Given the description of an element on the screen output the (x, y) to click on. 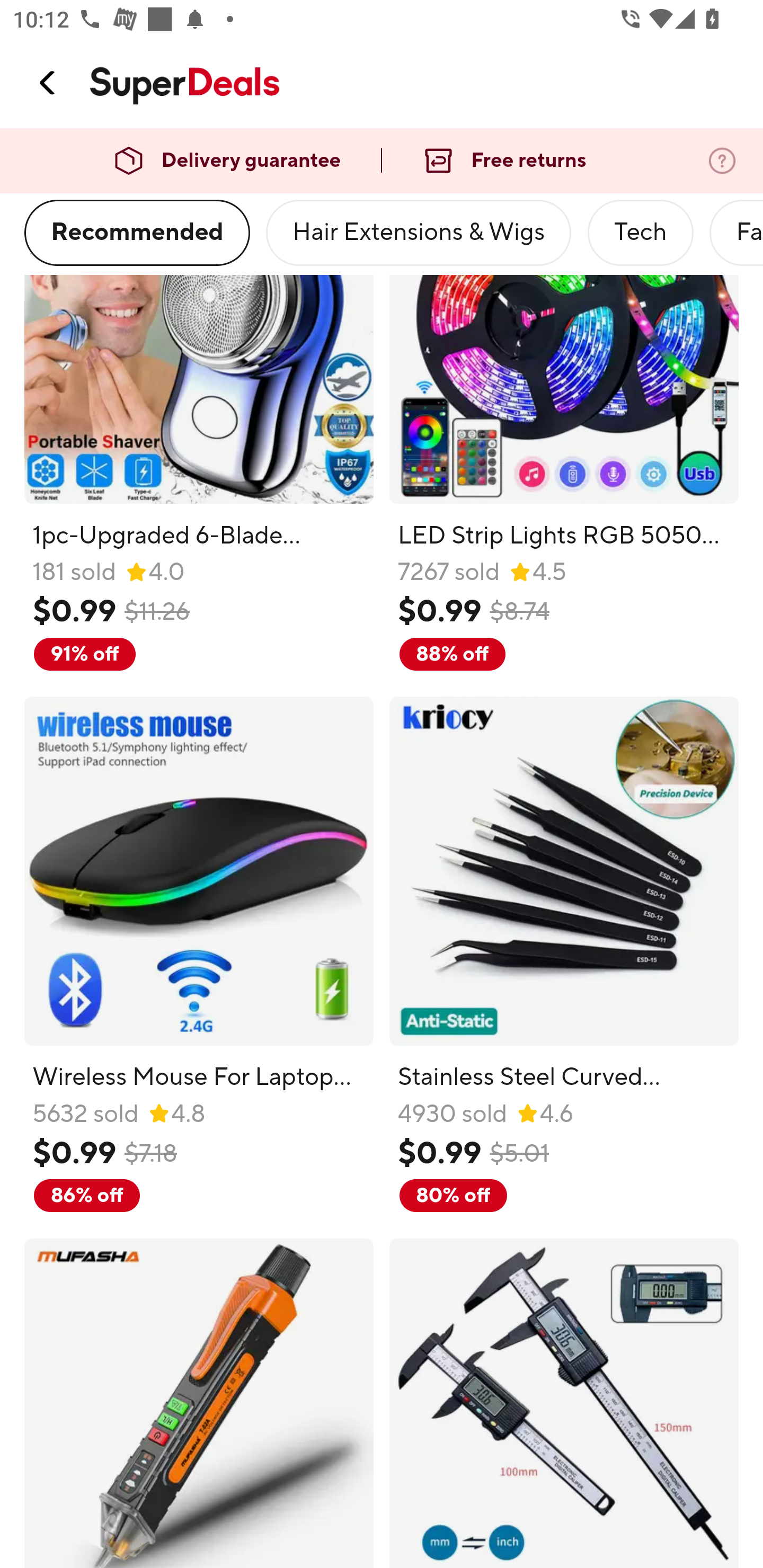
 (48, 82)
Recommended (137, 232)
Hair Extensions & Wigs (418, 232)
Tech (640, 232)
